Given the description of an element on the screen output the (x, y) to click on. 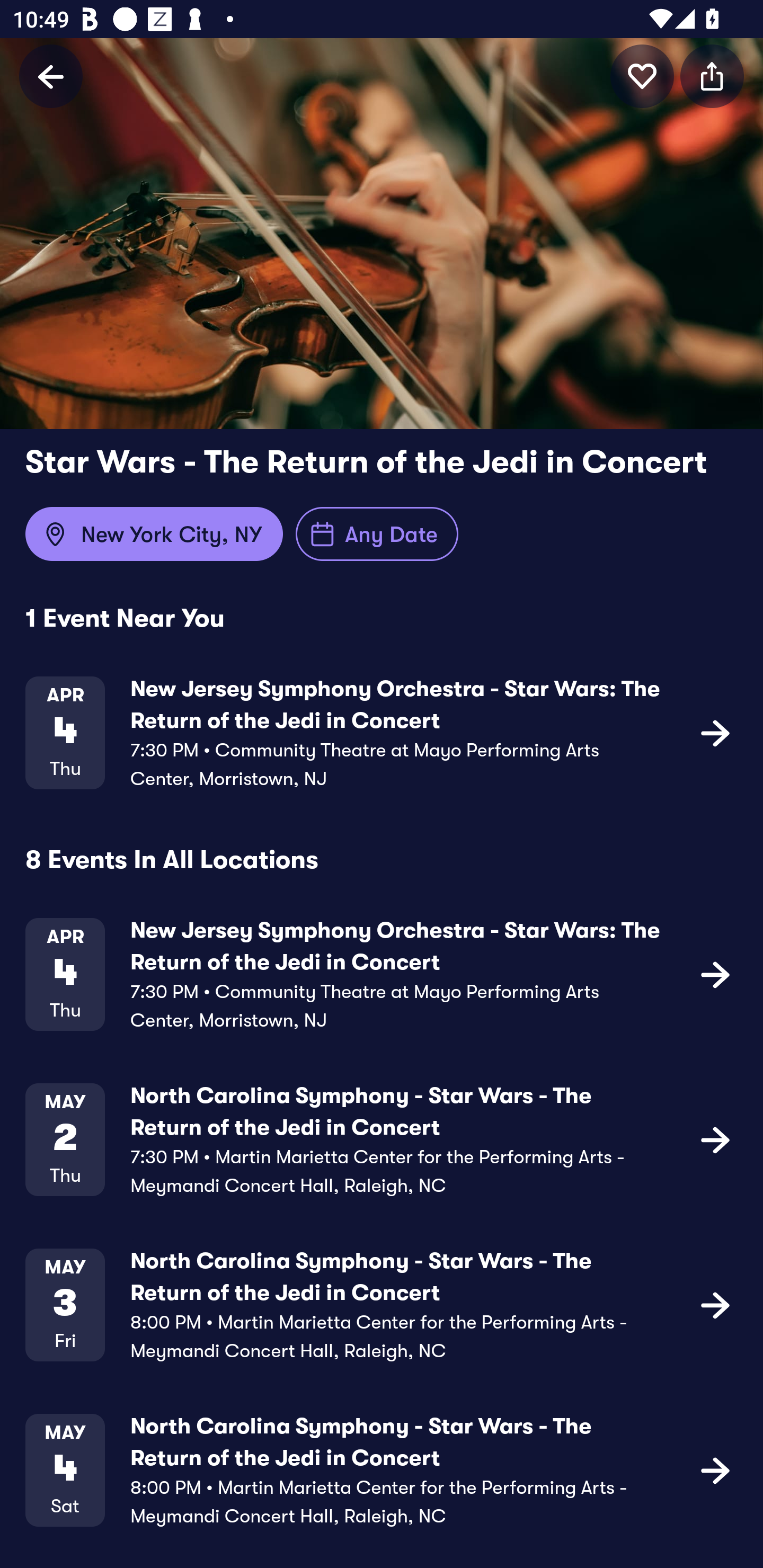
Back (50, 75)
icon button (641, 75)
icon button (711, 75)
New York City, NY (153, 533)
Any Date (377, 533)
icon button (714, 732)
icon button (714, 973)
icon button (714, 1138)
icon button (714, 1304)
icon button (714, 1469)
